Given the description of an element on the screen output the (x, y) to click on. 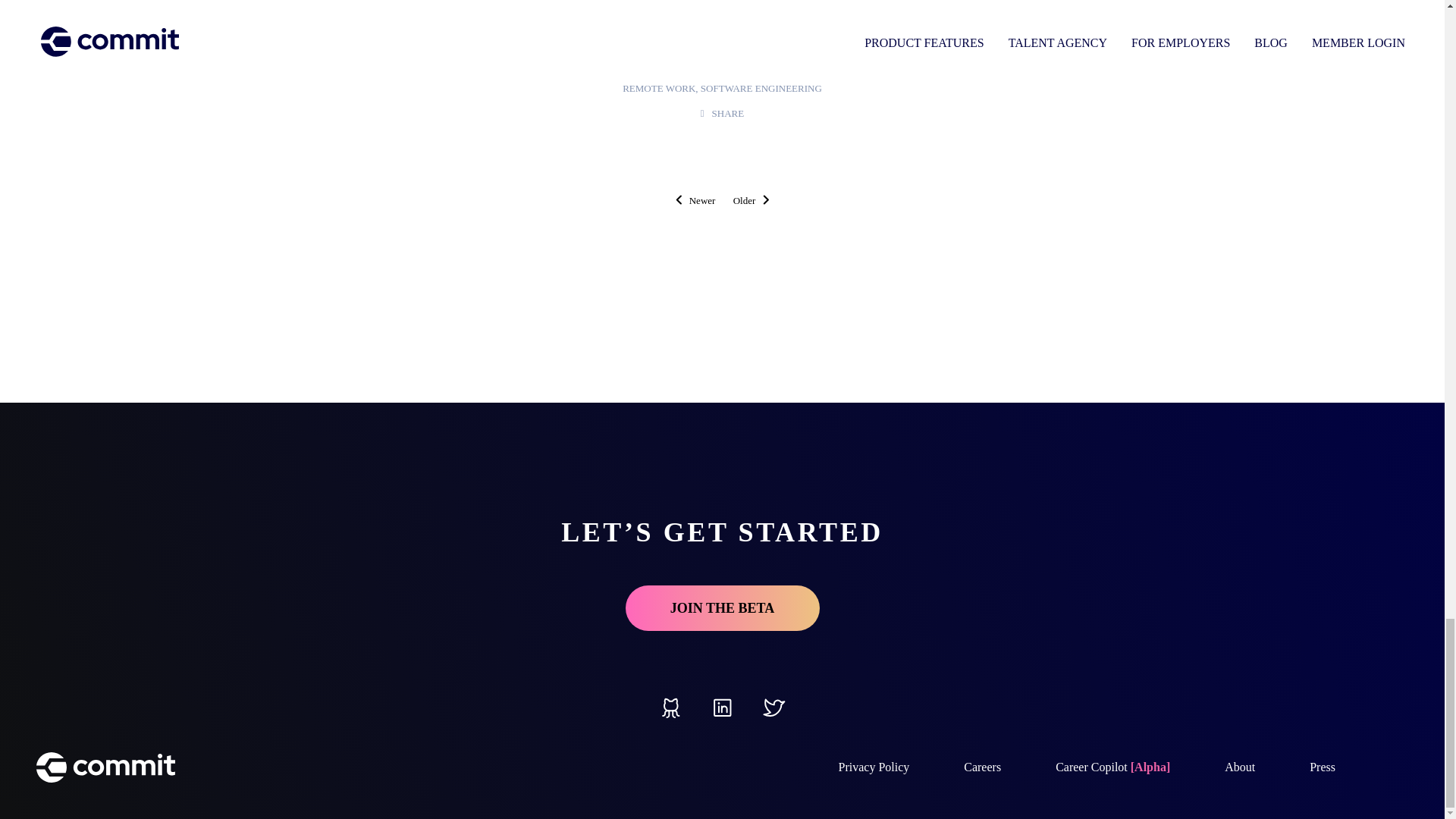
Careers (982, 767)
JOIN THE BETA (721, 607)
Newer (695, 200)
Privacy Policy (874, 767)
SHARE (722, 112)
Older (751, 200)
SOFTWARE ENGINEERING (761, 88)
REMOTE WORK (659, 88)
Form 0 (721, 20)
